Given the description of an element on the screen output the (x, y) to click on. 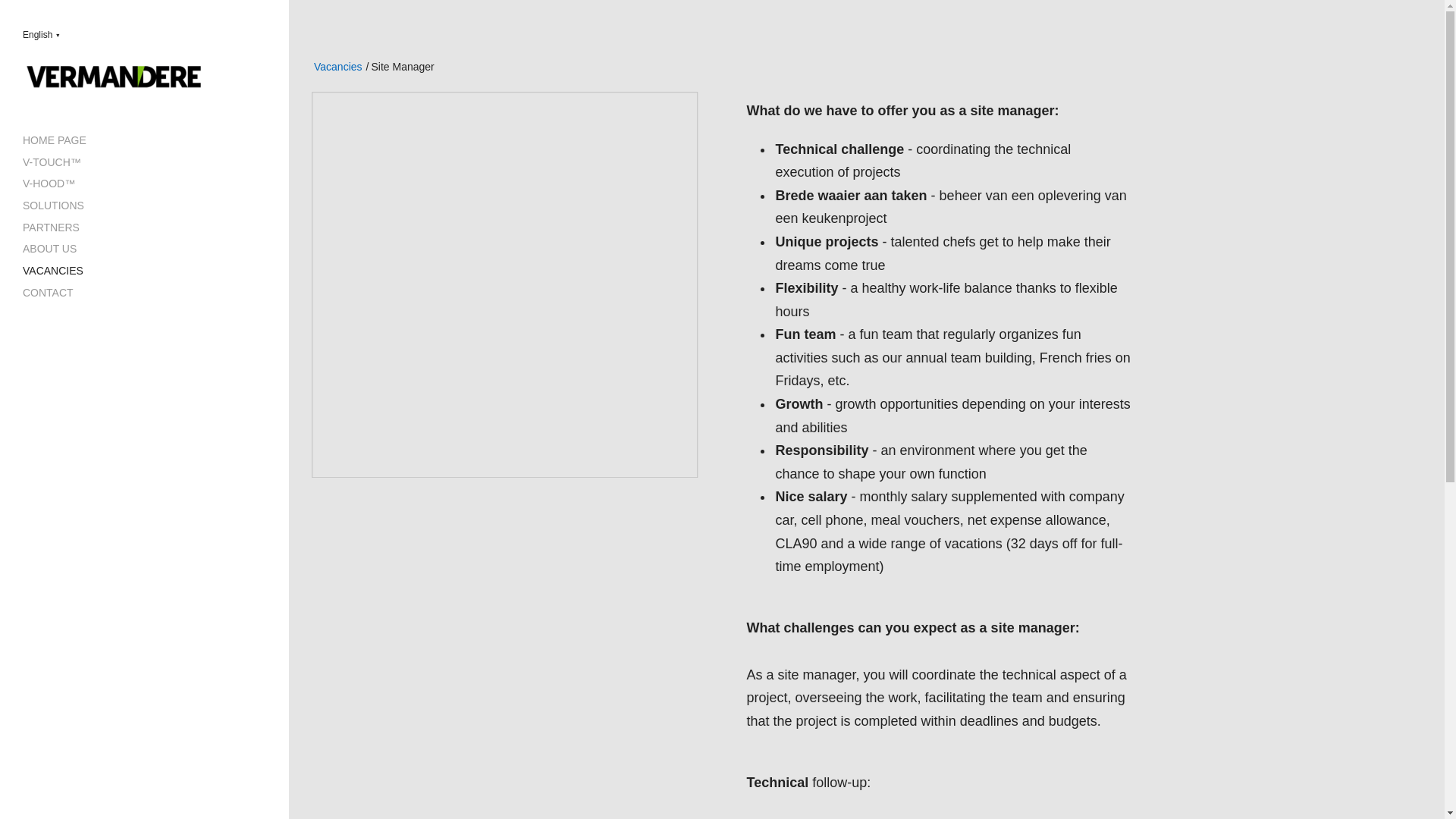
PARTNERS (51, 227)
Vacancies (338, 66)
ABOUT US (50, 248)
HOME PAGE (54, 140)
SOLUTIONS (53, 205)
VACANCIES (52, 270)
CONTACT (48, 292)
